Given the description of an element on the screen output the (x, y) to click on. 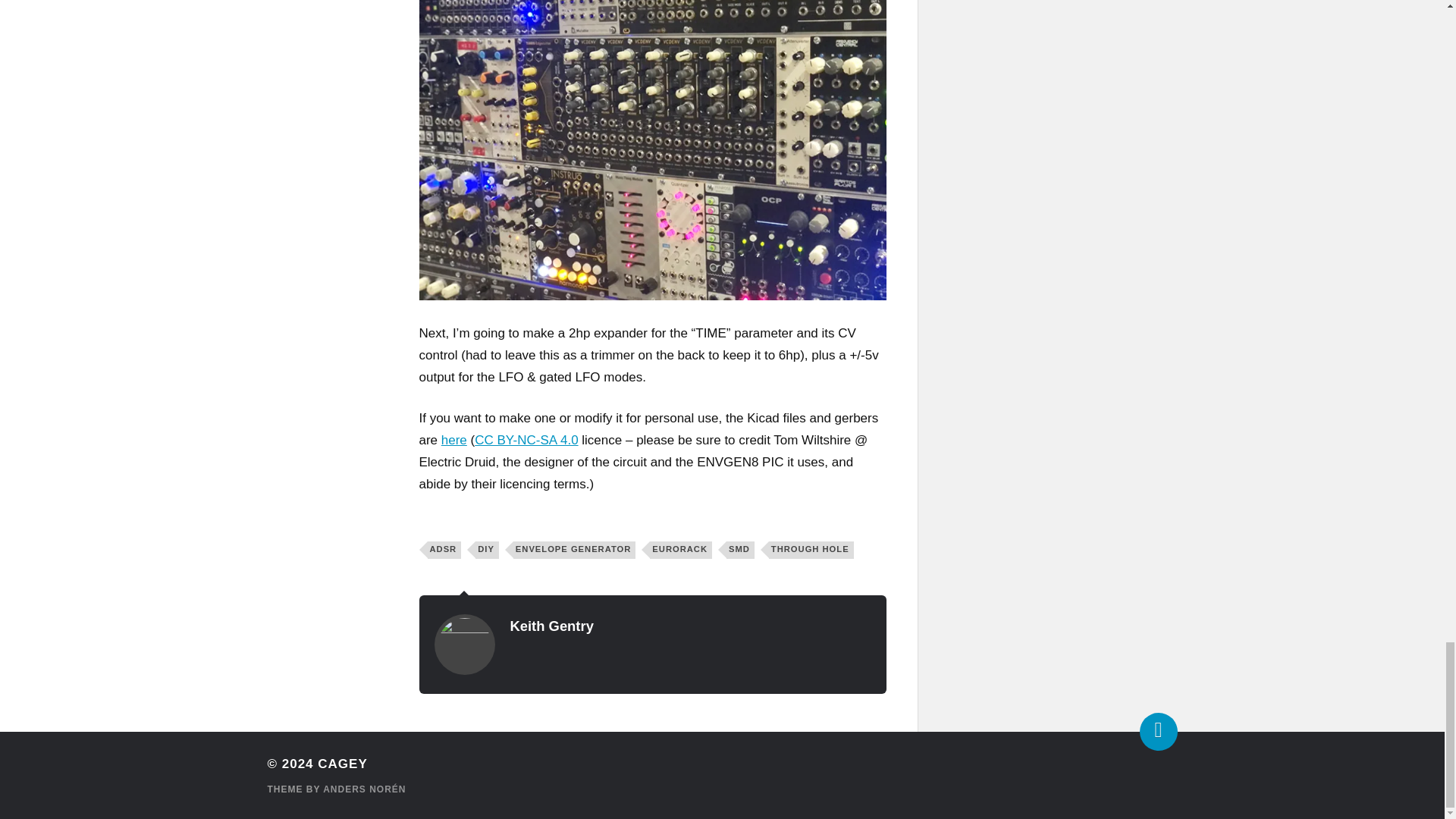
ADSR (444, 549)
DIY (487, 549)
CC BY-NC-SA 4.0 (526, 440)
Keith Gentry (550, 625)
SMD (740, 549)
EURORACK (680, 549)
ENVELOPE GENERATOR (573, 549)
THROUGH HOLE (810, 549)
here (454, 440)
